Given the description of an element on the screen output the (x, y) to click on. 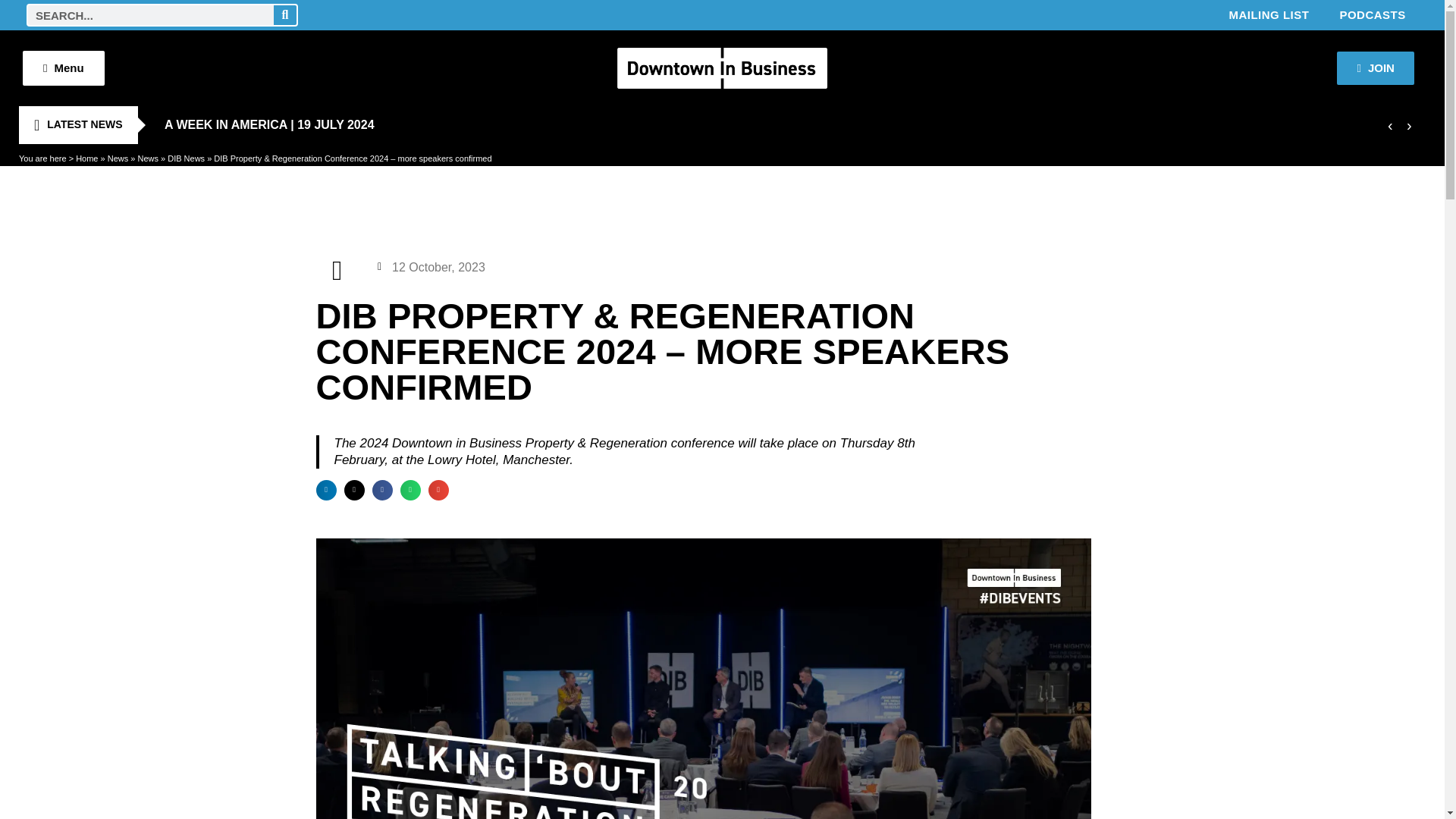
PODCASTS (1372, 15)
MAILING LIST (1267, 15)
JOIN (1374, 68)
News (118, 157)
News (147, 157)
Menu (63, 67)
12 October, 2023 (430, 267)
DIB News (186, 157)
Home (86, 157)
Skip to content (11, 31)
LATEST NEWS (77, 125)
